Given the description of an element on the screen output the (x, y) to click on. 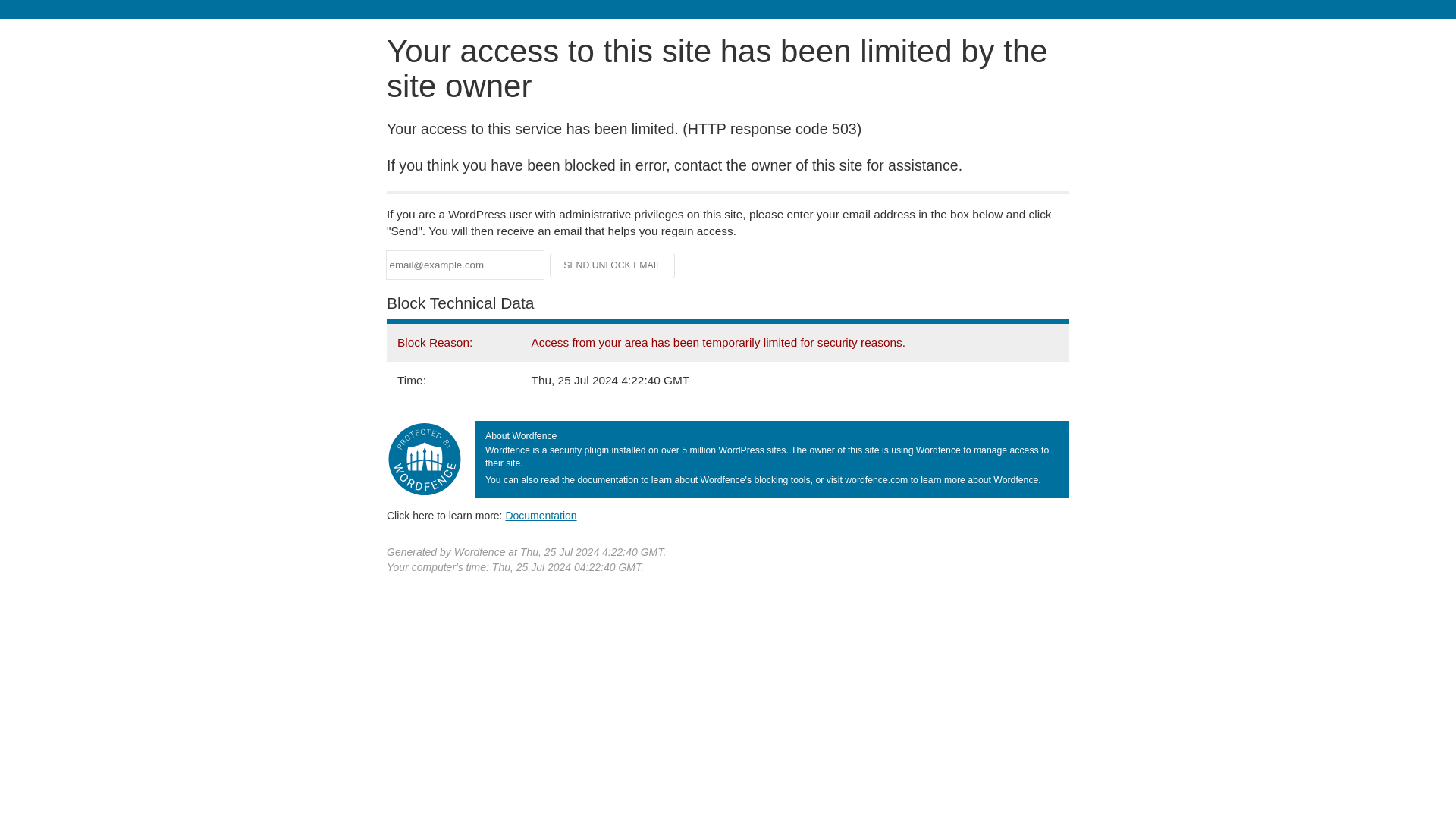
Send Unlock Email (612, 265)
Documentation (540, 515)
Send Unlock Email (612, 265)
